Given the description of an element on the screen output the (x, y) to click on. 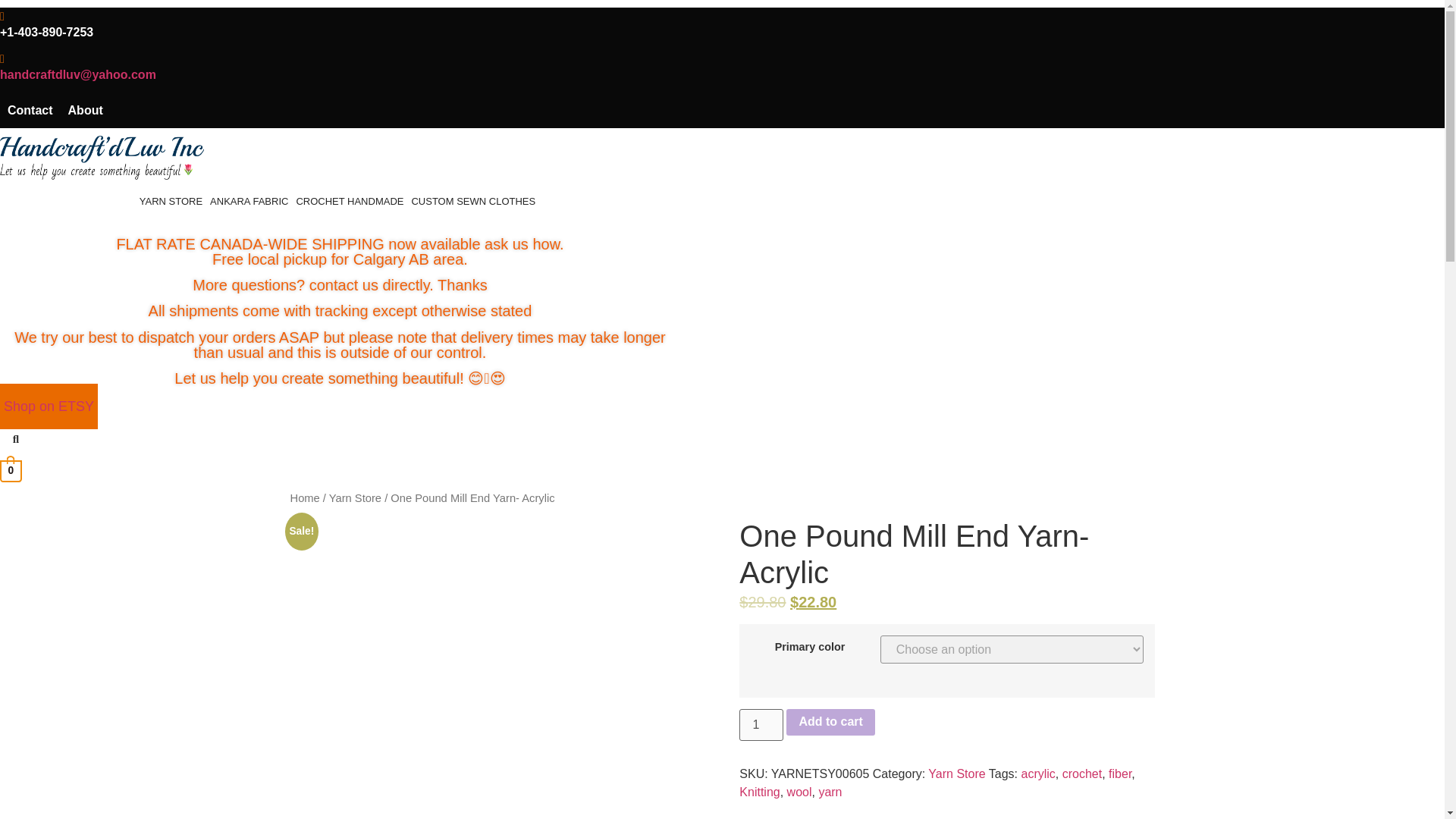
View your shopping cart (10, 470)
acrylic (1037, 773)
About (85, 110)
Add to cart (830, 722)
Contact (30, 110)
ANKARA FABRIC (249, 201)
fiber (1119, 773)
crochet (1082, 773)
Knitting (758, 791)
1 (761, 725)
